Given the description of an element on the screen output the (x, y) to click on. 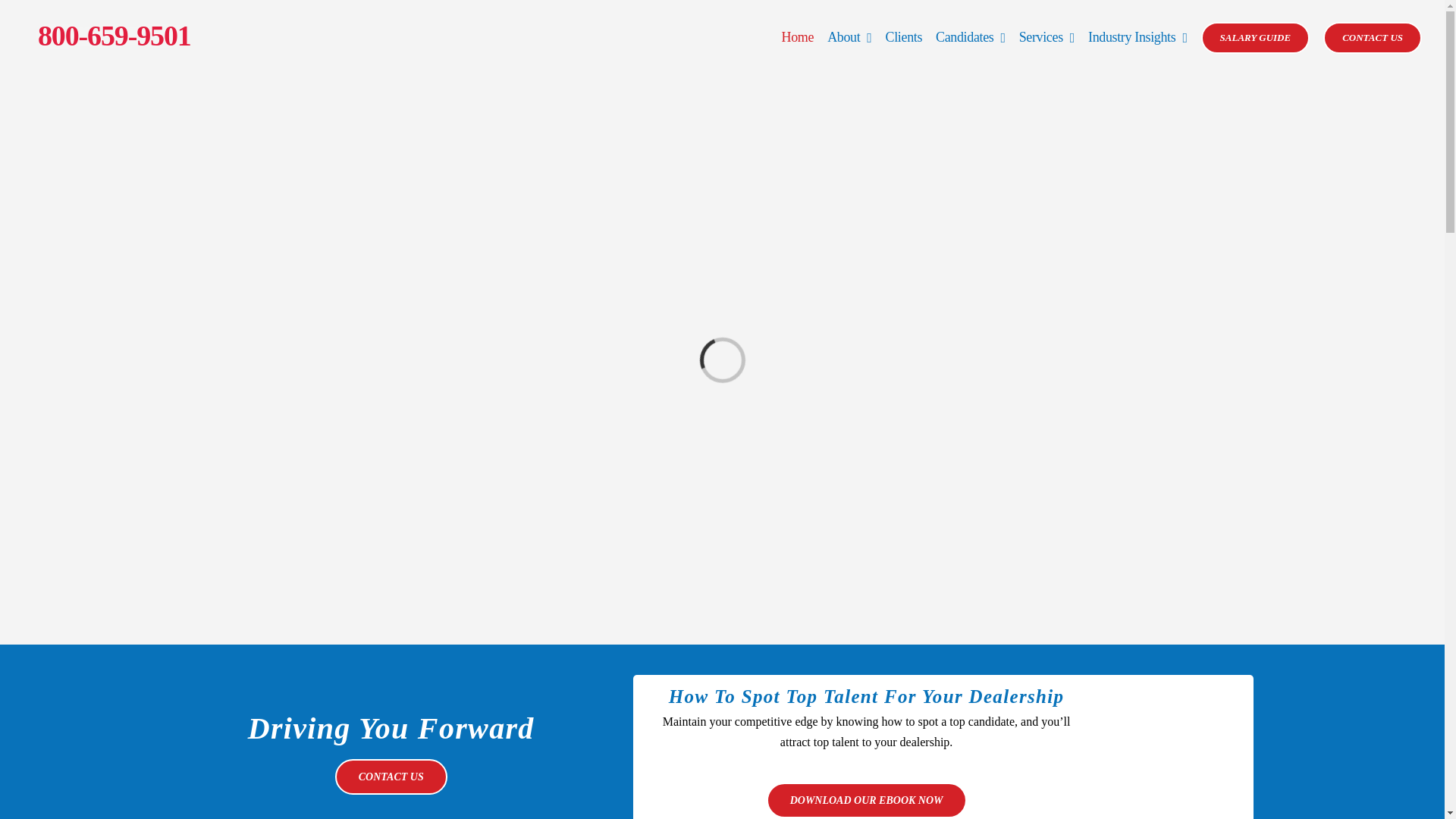
Candidates (971, 37)
About (848, 37)
DOWNLOAD OUR EBOOK NOW (866, 800)
800-659-9501 (113, 35)
Clients (903, 37)
CONTACT US (1372, 37)
SALARY GUIDE (1255, 37)
CONTACT US (390, 776)
Services (1046, 37)
Industry Insights (1137, 37)
